Given the description of an element on the screen output the (x, y) to click on. 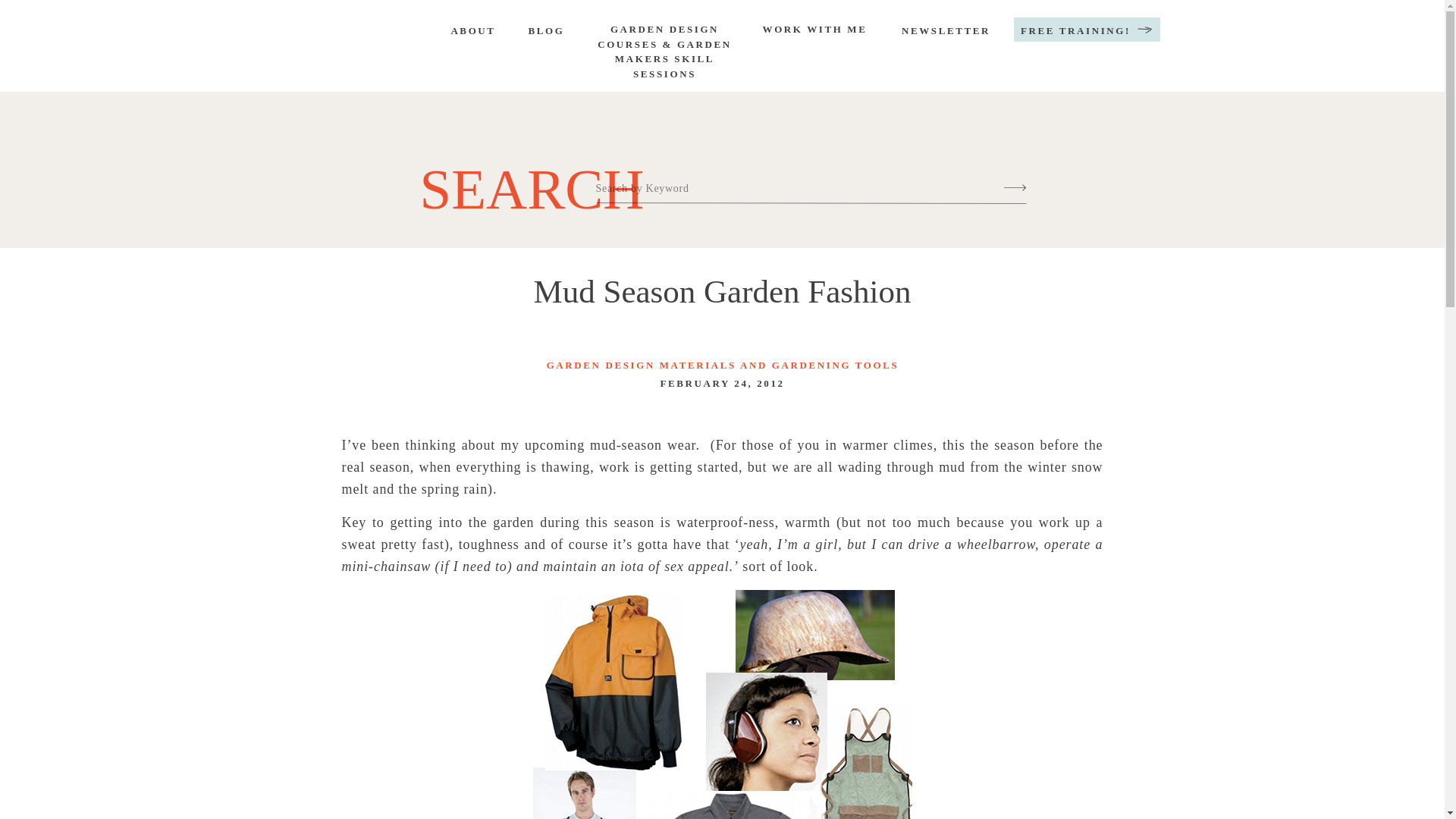
NEWSLETTER (945, 31)
GARDEN DESIGN MATERIALS AND GARDENING TOOLS (723, 365)
FREE TRAINING! (1075, 31)
WORK WITH ME (815, 33)
mud season (721, 704)
BLOG (545, 31)
ABOUT (471, 31)
SEARCH (515, 180)
